Given the description of an element on the screen output the (x, y) to click on. 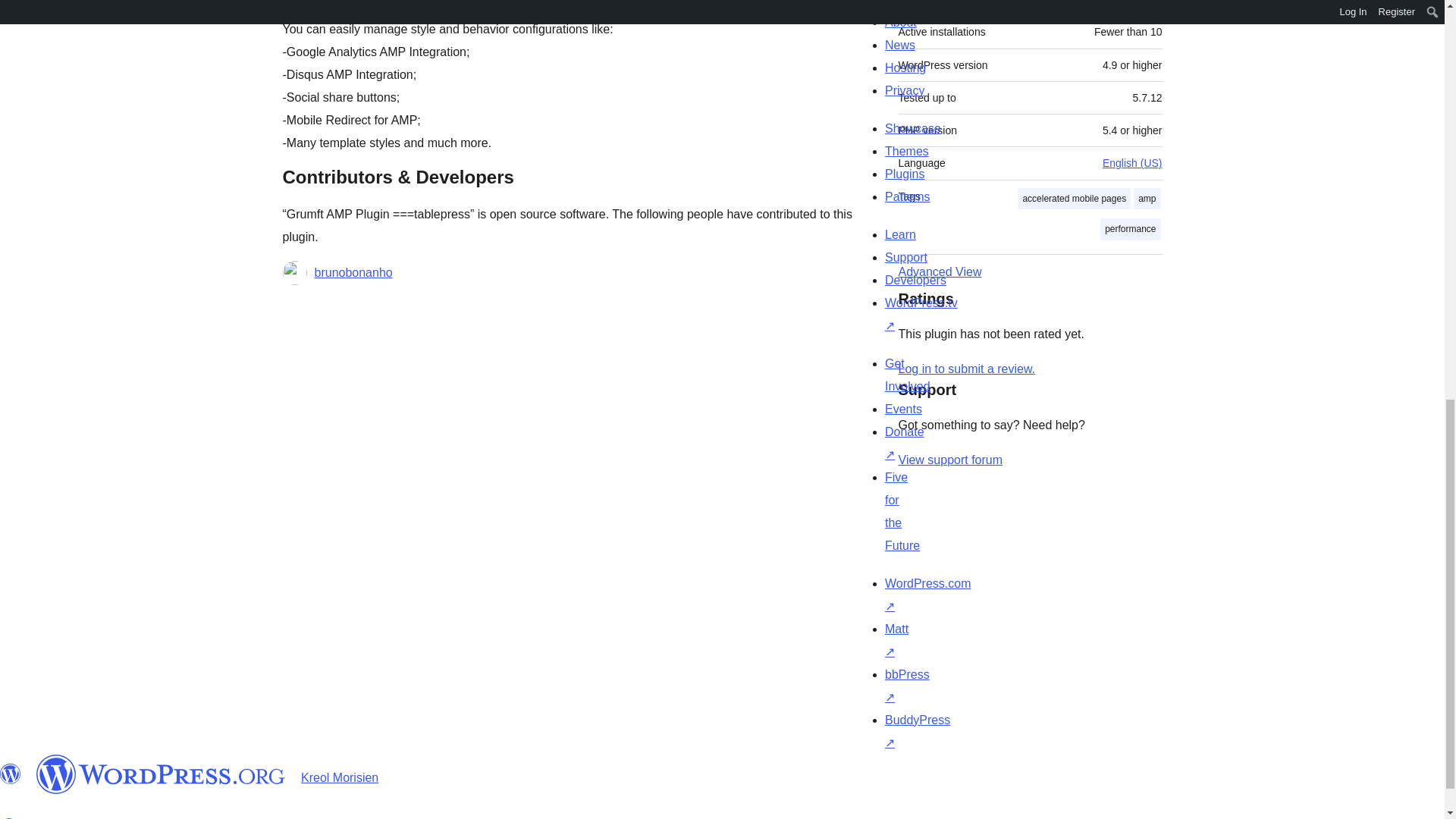
WordPress.org (160, 773)
WordPress.org (10, 773)
brunobonanho (352, 272)
performance (1130, 229)
amp (1147, 198)
accelerated mobile pages (1074, 198)
Log in to WordPress.org (966, 368)
